Given the description of an element on the screen output the (x, y) to click on. 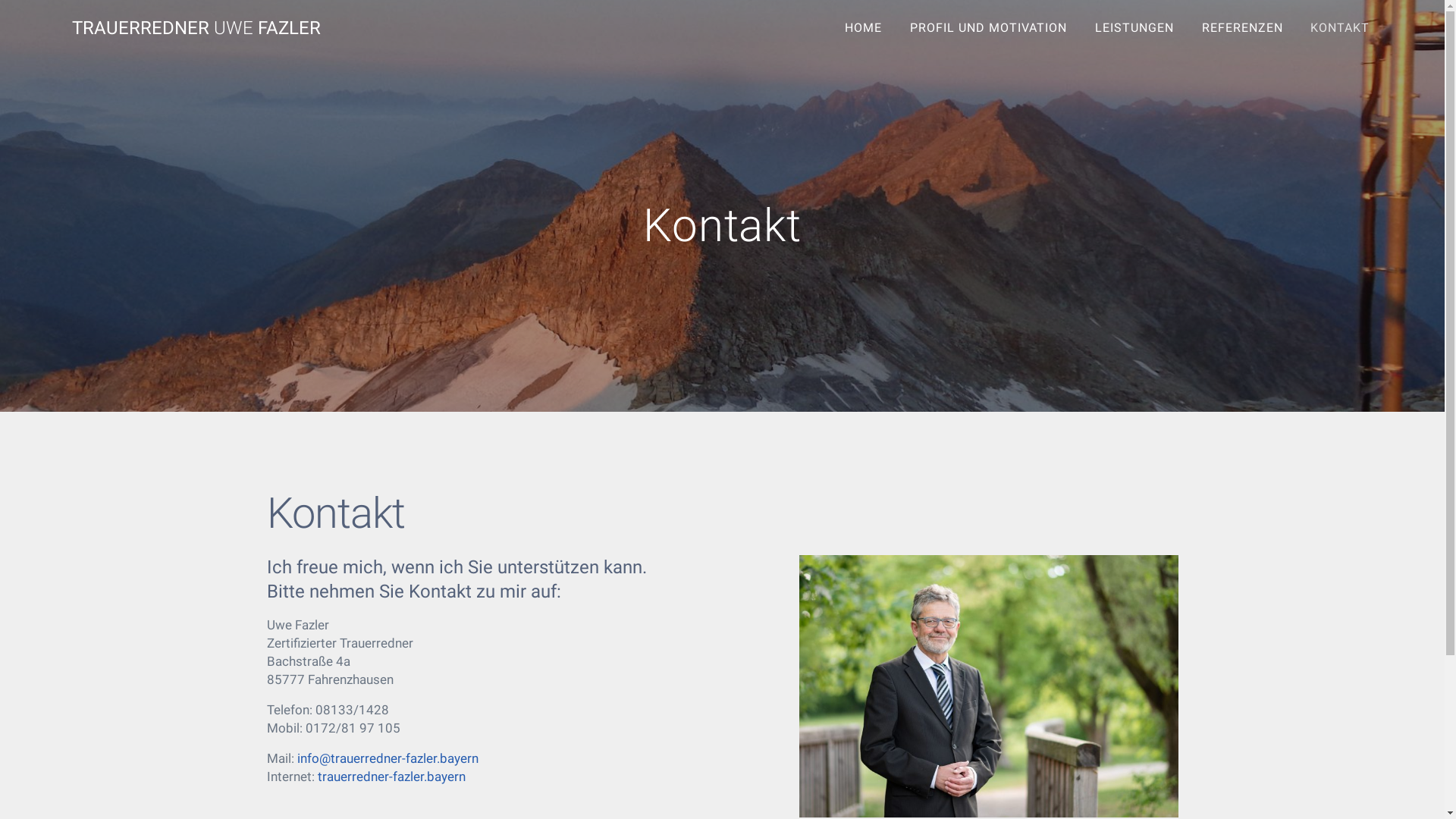
HOME Element type: text (863, 27)
trauerredner-fazler.bayern Element type: text (390, 776)
KONTAKT Element type: text (1339, 27)
TRAUERREDNER UWE FAZLER Element type: text (196, 27)
PROFIL UND MOTIVATION Element type: text (988, 27)
LEISTUNGEN Element type: text (1133, 27)
REFERENZEN Element type: text (1241, 27)
info@trauerredner-fazler.bayern Element type: text (387, 757)
